Given the description of an element on the screen output the (x, y) to click on. 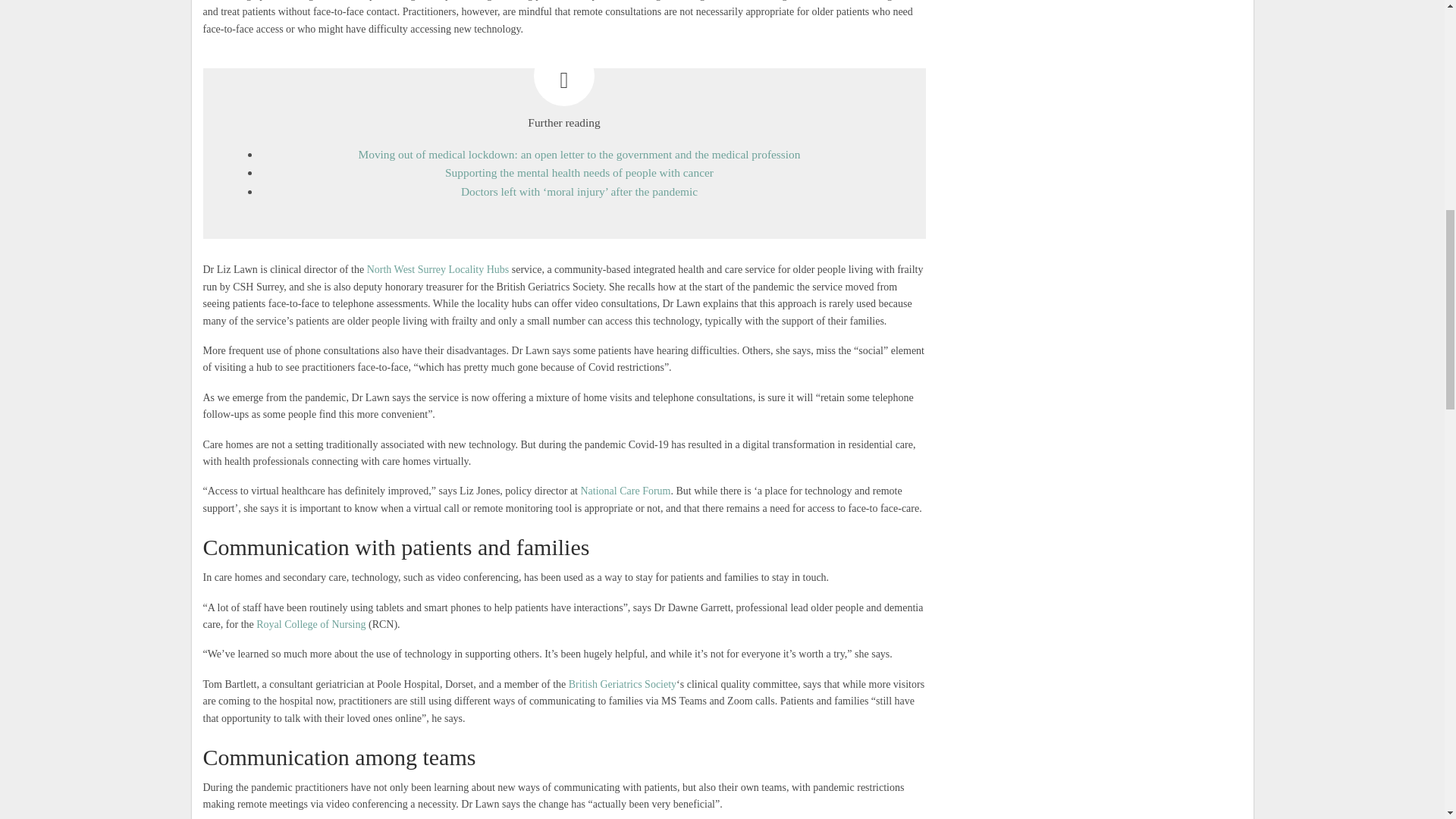
Moving out of lockdown (578, 154)
Moral injury (579, 191)
Cancer and mental health (579, 172)
